Given the description of an element on the screen output the (x, y) to click on. 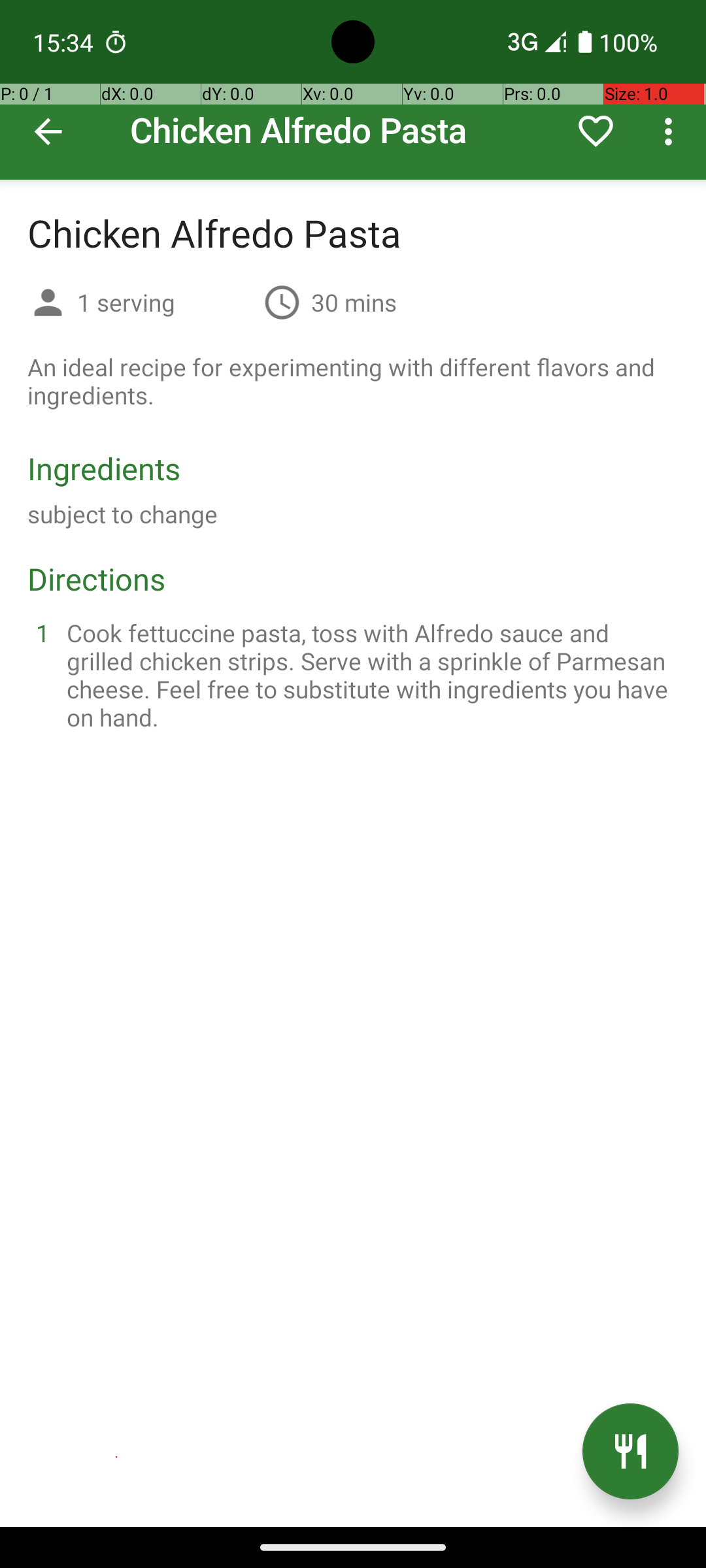
Chicken Alfredo Pasta Element type: android.widget.FrameLayout (353, 89)
1 serving Element type: android.widget.TextView (164, 301)
30 mins Element type: android.widget.TextView (353, 301)
subject to change Element type: android.widget.TextView (122, 513)
Cook fettuccine pasta, toss with Alfredo sauce and grilled chicken strips. Serve with a sprinkle of Parmesan cheese. Feel free to substitute with ingredients you have on hand. Element type: android.widget.TextView (368, 674)
